Given the description of an element on the screen output the (x, y) to click on. 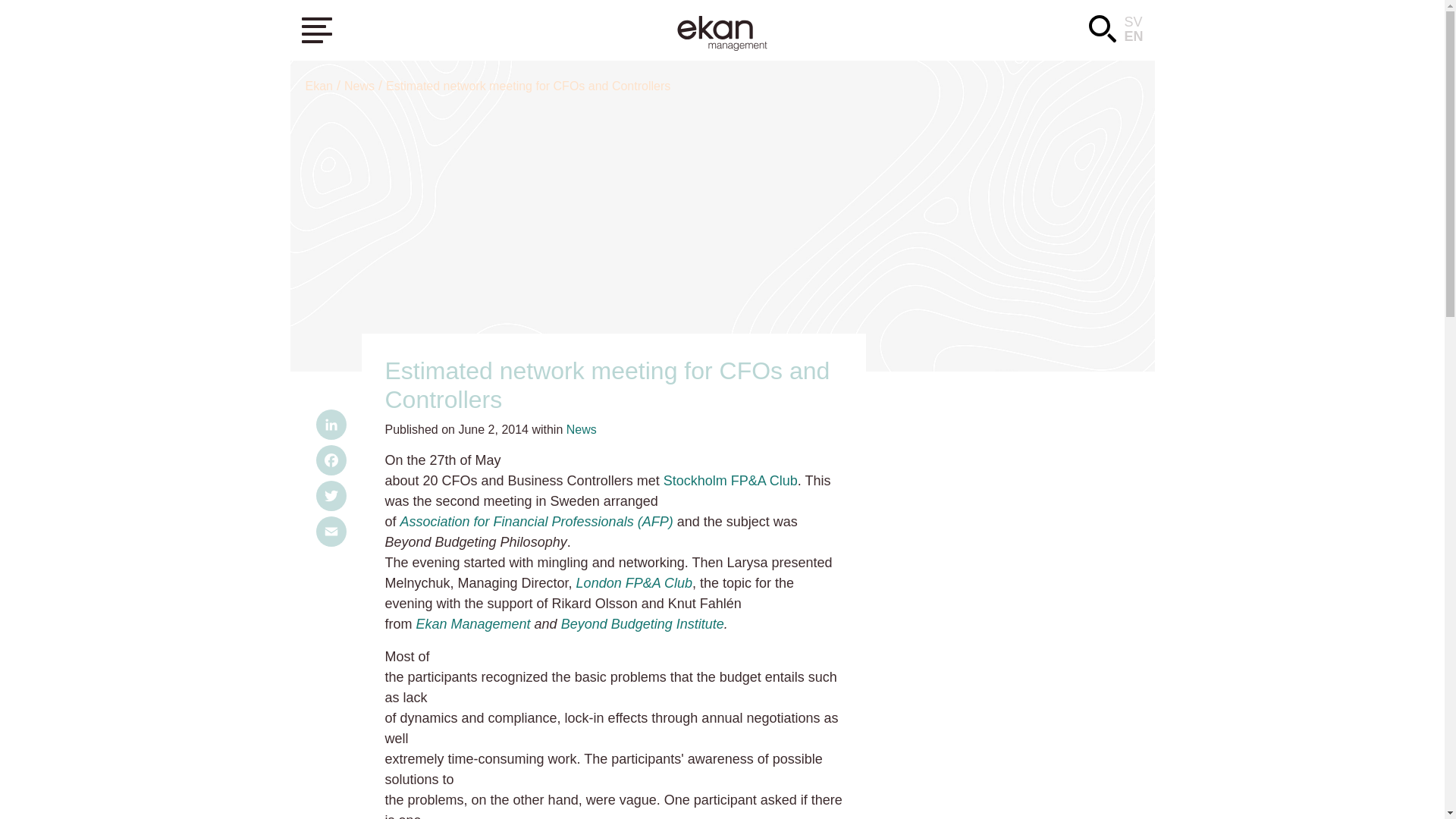
SV (1132, 21)
email (331, 534)
Twitter (331, 498)
News (581, 429)
LinkedIn (331, 427)
Facebook (331, 462)
EN (1133, 36)
Facebook (331, 462)
Twitter (331, 498)
Email (331, 534)
News (358, 85)
Ekan (317, 85)
LinkedIn (331, 427)
